Given the description of an element on the screen output the (x, y) to click on. 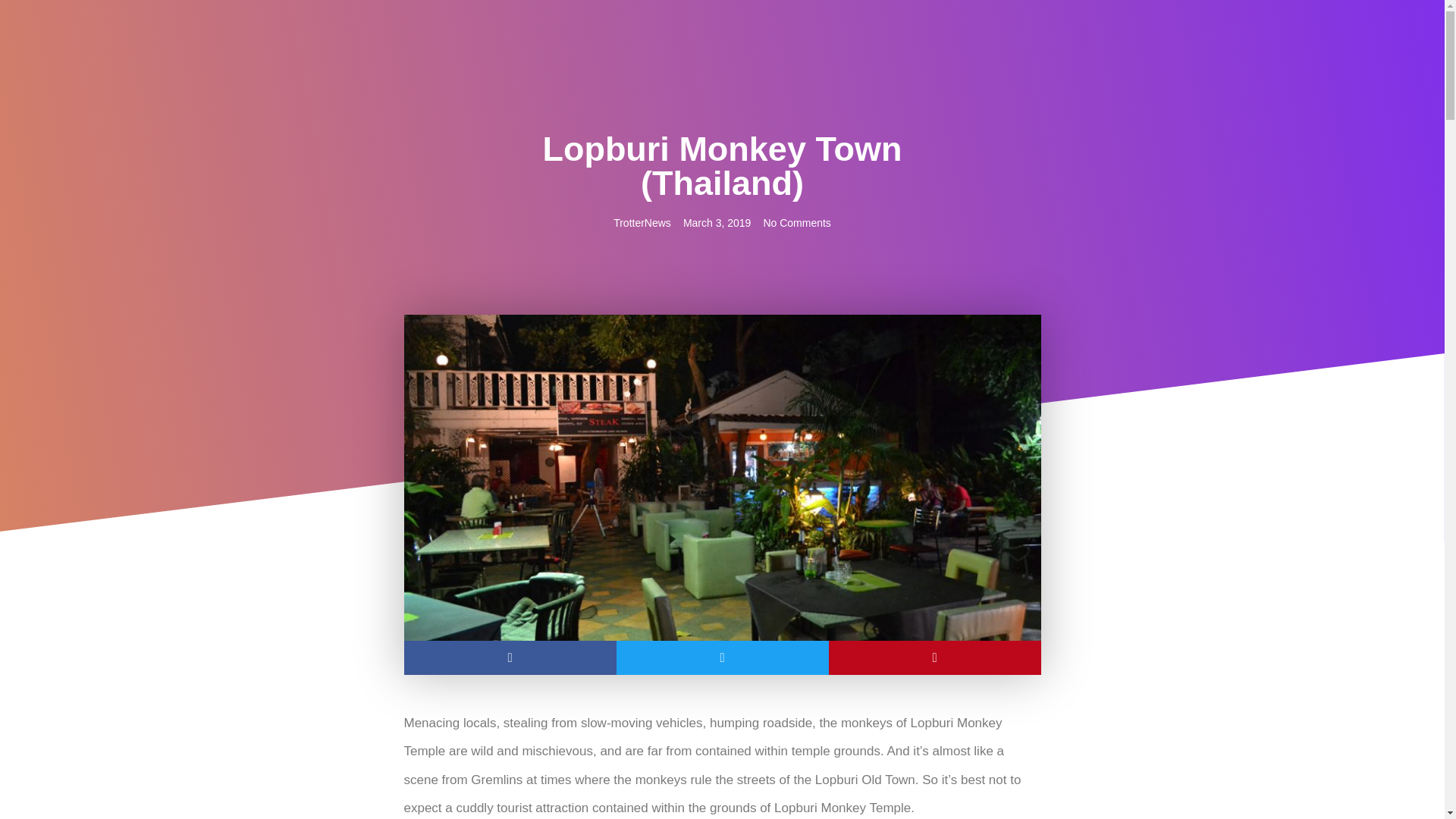
TrotterNews (641, 222)
March 3, 2019 (716, 222)
No Comments (795, 222)
